Given the description of an element on the screen output the (x, y) to click on. 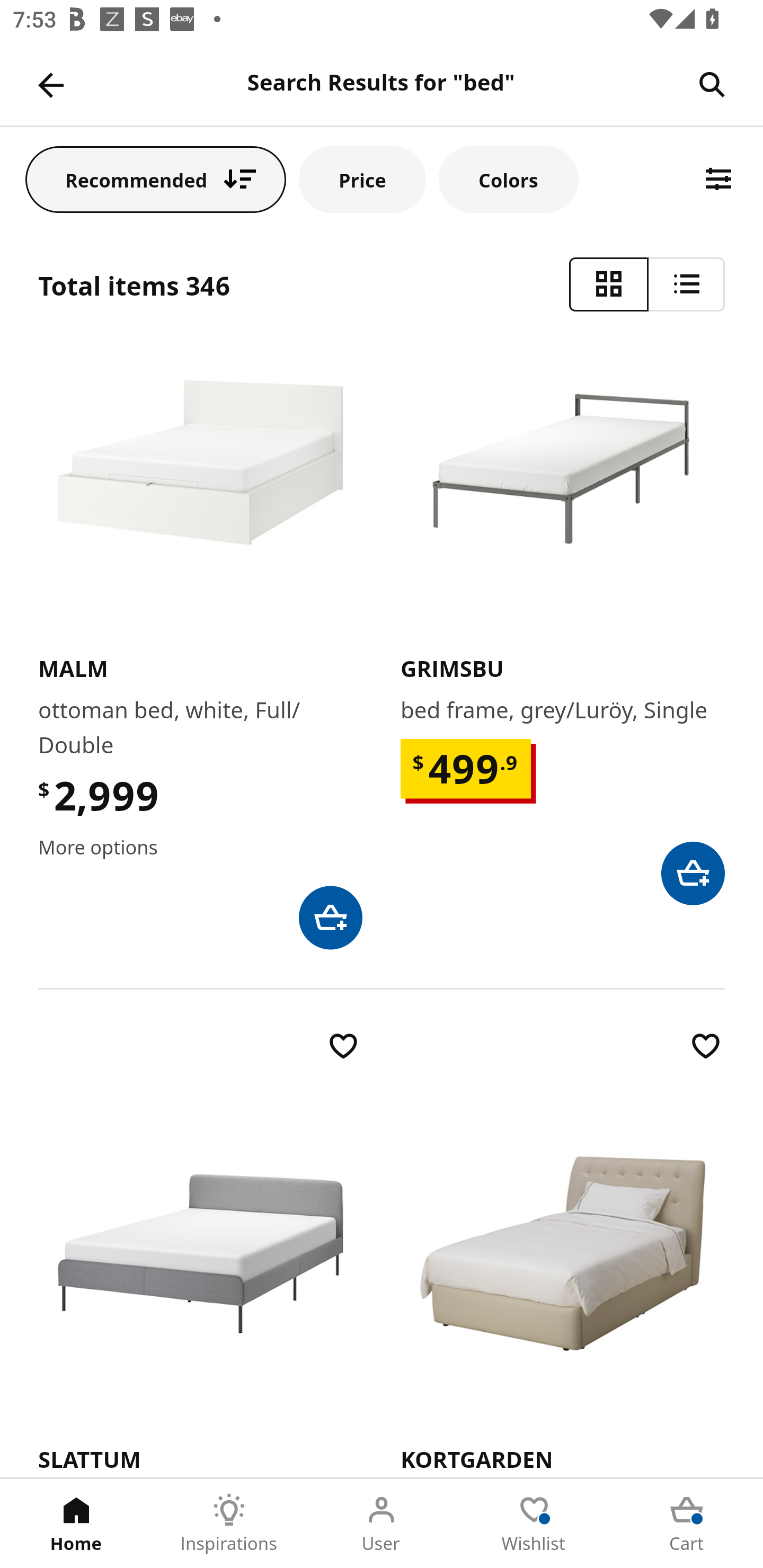
Recommended (155, 179)
Price (362, 179)
Colors (508, 179)
Home
Tab 1 of 5 (76, 1522)
Inspirations
Tab 2 of 5 (228, 1522)
User
Tab 3 of 5 (381, 1522)
Wishlist
Tab 4 of 5 (533, 1522)
Cart
Tab 5 of 5 (686, 1522)
